Given the description of an element on the screen output the (x, y) to click on. 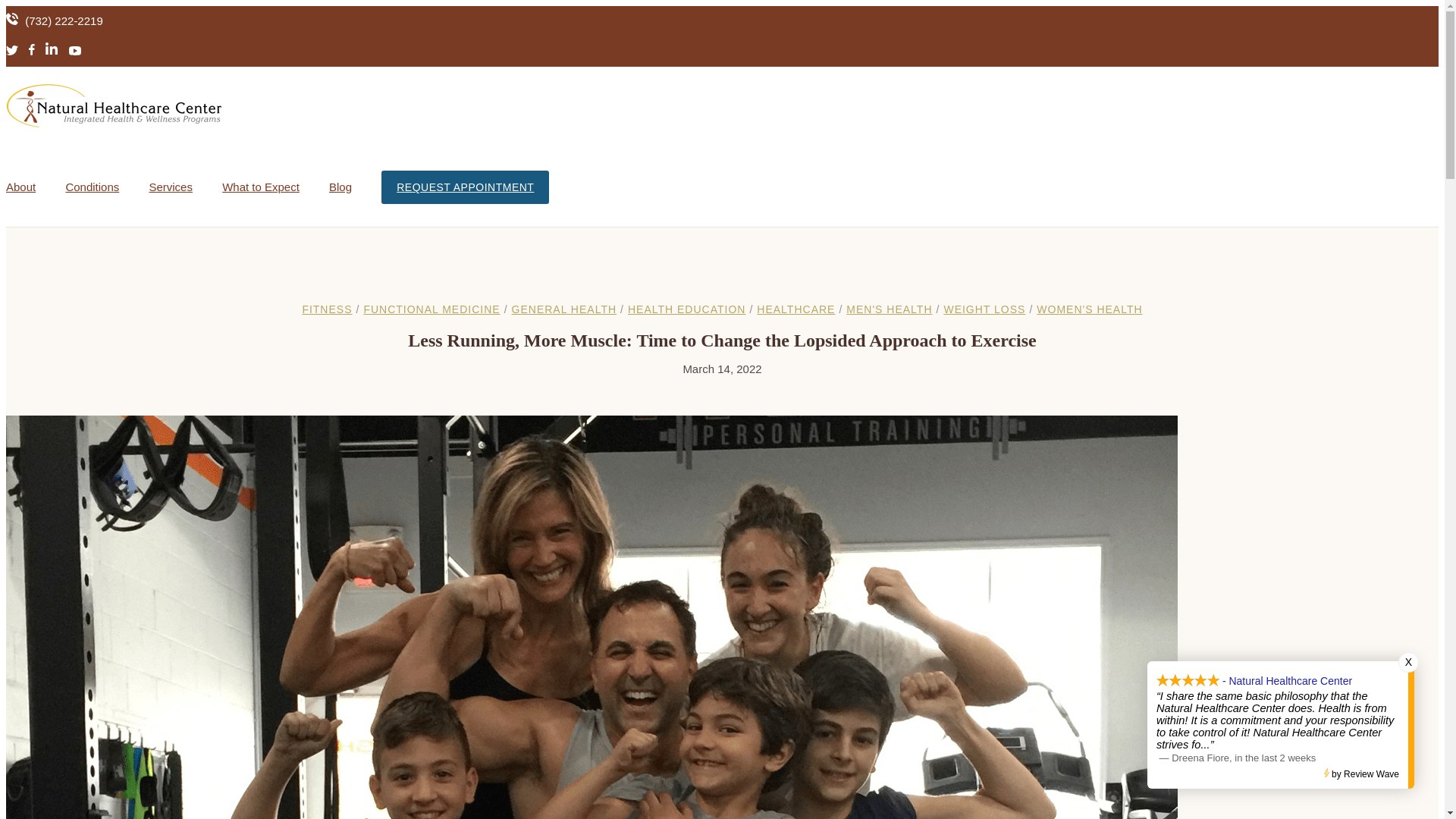
What to Expect (260, 186)
About (19, 186)
Conditions (92, 186)
Services (170, 186)
